Given the description of an element on the screen output the (x, y) to click on. 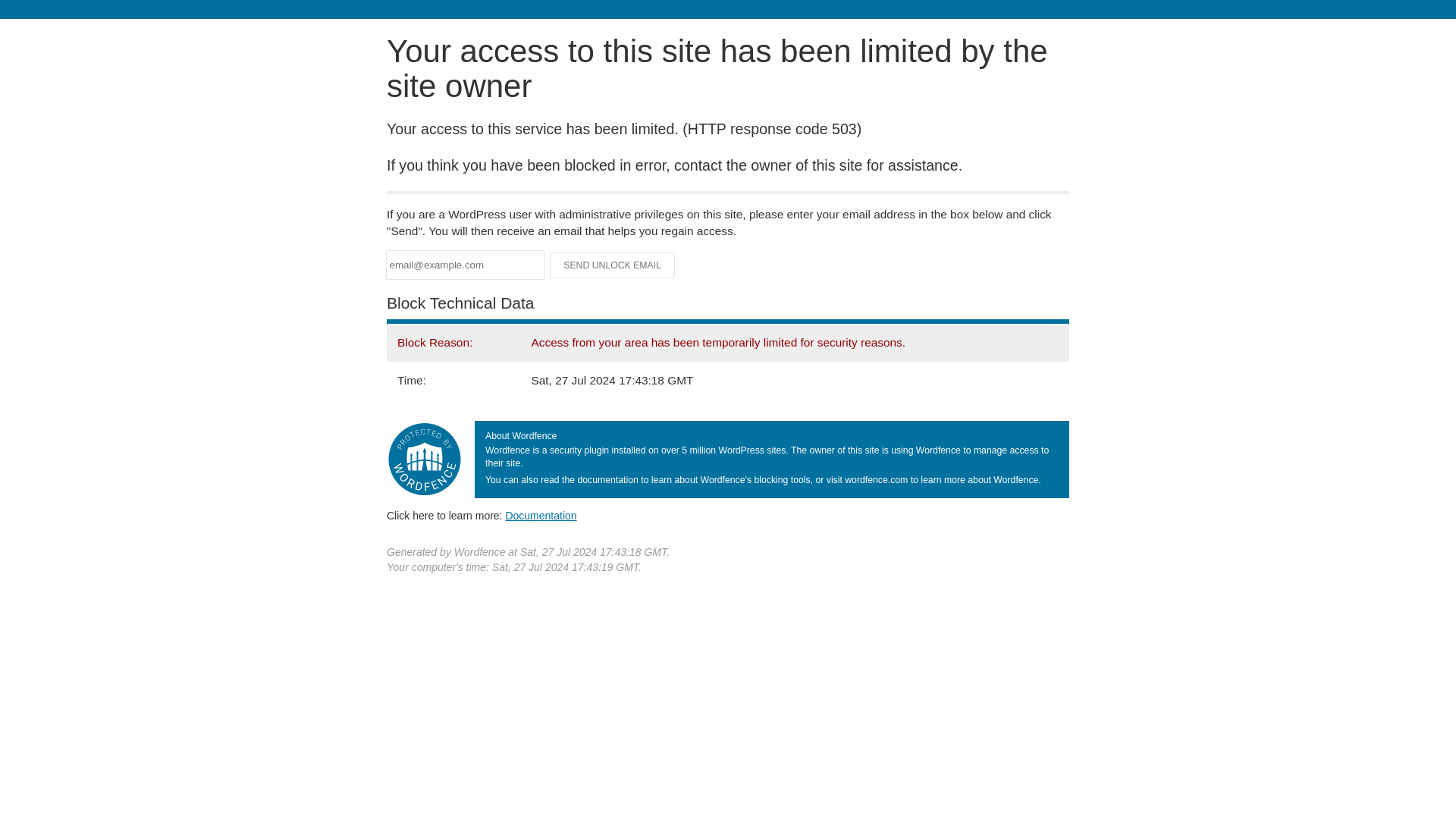
Send Unlock Email (612, 265)
Send Unlock Email (612, 265)
Documentation (540, 515)
